Given the description of an element on the screen output the (x, y) to click on. 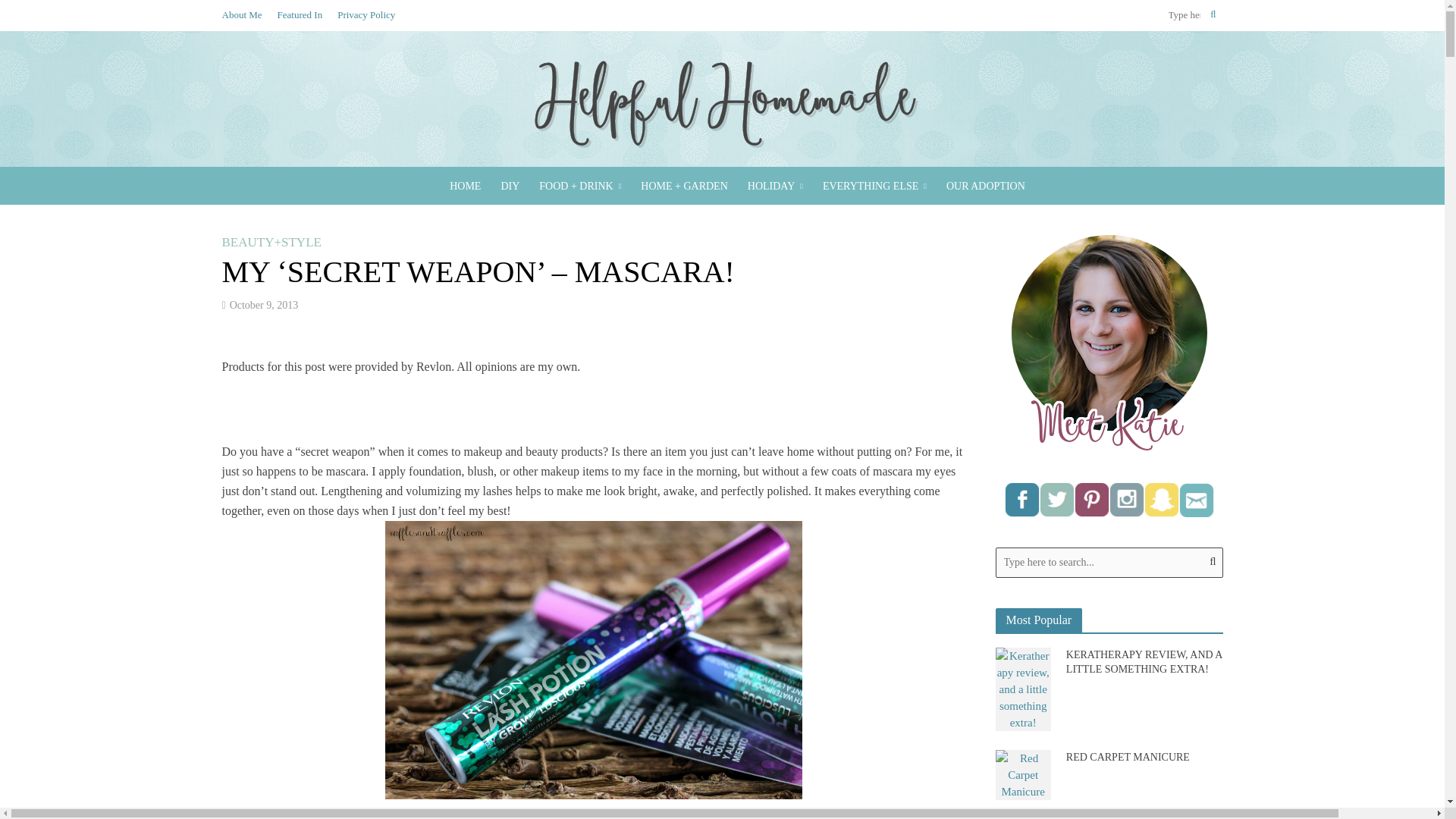
EVERYTHING ELSE (874, 186)
Featured In (299, 15)
HOME (464, 186)
Privacy Policy (366, 15)
OUR ADOPTION (985, 186)
Red Carpet Manicure (1021, 773)
DIY (509, 186)
About Me (245, 15)
HOLIDAY (775, 186)
Keratherapy review, and a little something extra! (1021, 687)
